Given the description of an element on the screen output the (x, y) to click on. 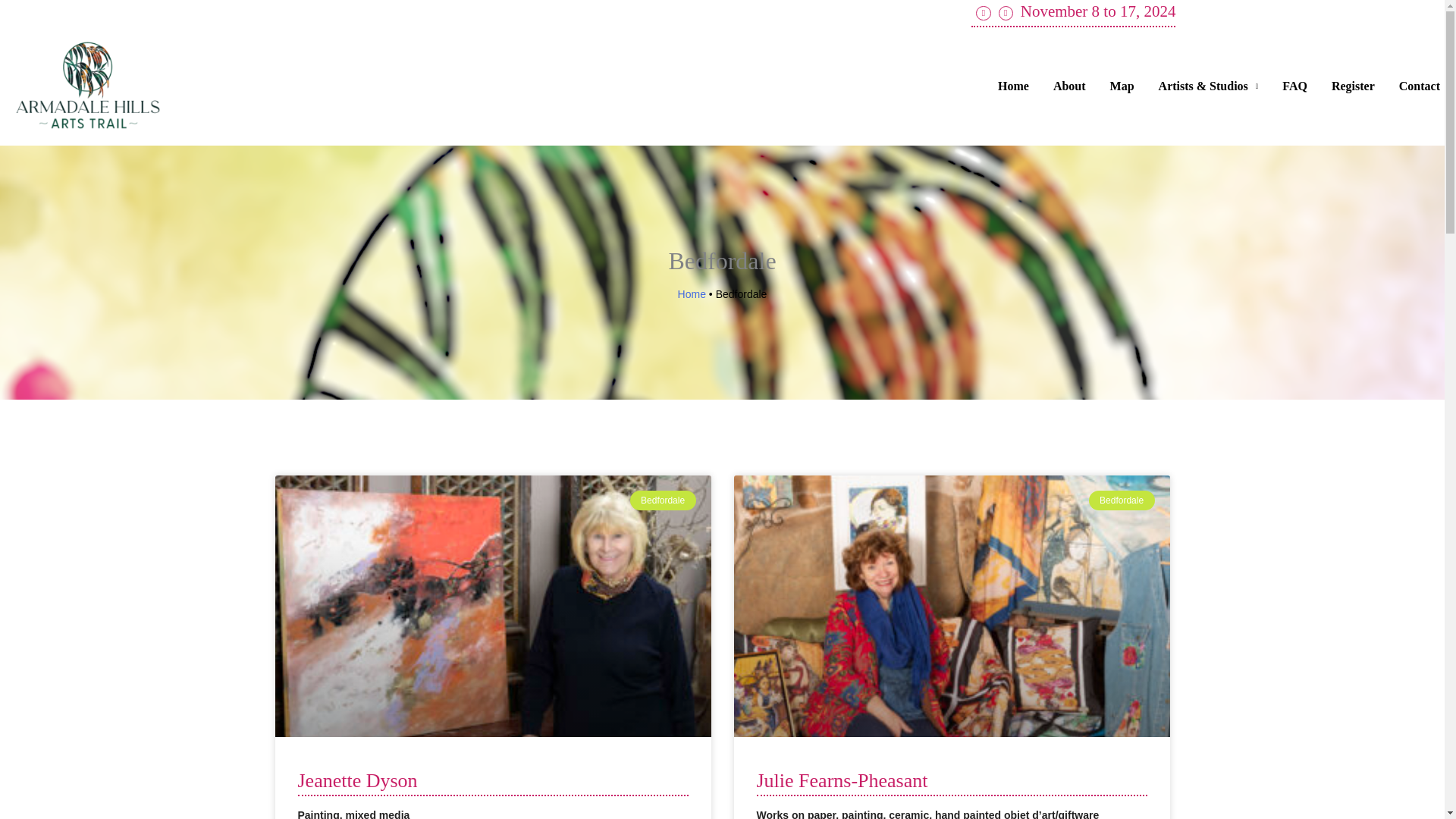
Julie Fearns-Pheasant (842, 780)
Register (1353, 85)
Bedfordale 2 (947, 603)
Jeanette Dyson (356, 780)
Home (692, 294)
Facebook-f (982, 12)
Instagram (1005, 12)
